Given the description of an element on the screen output the (x, y) to click on. 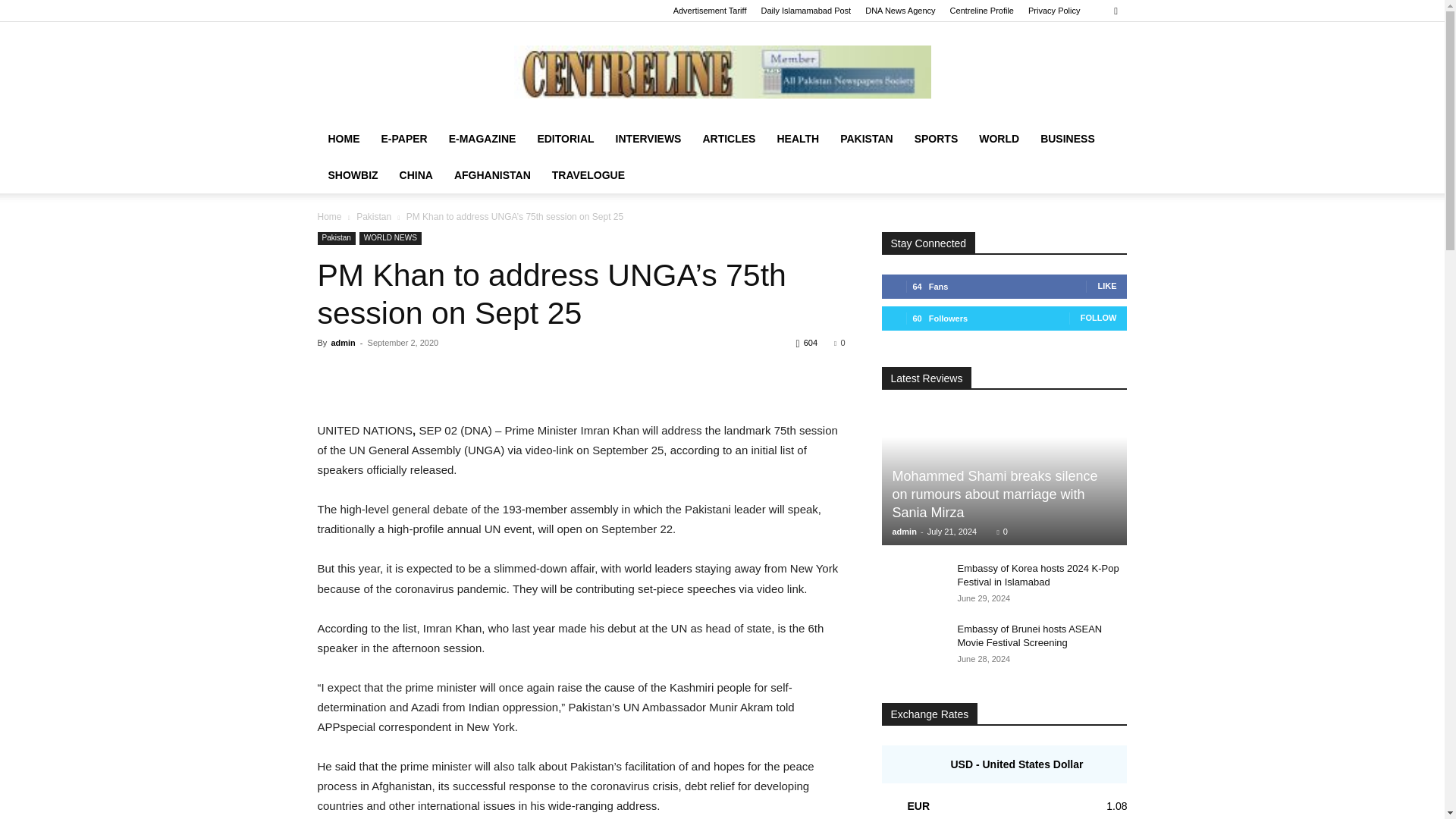
CENTRELINE (722, 71)
Centreline (722, 71)
HOME (343, 138)
E-MAGAZINE (482, 138)
Centreline Profile (981, 10)
HEALTH (797, 138)
EDITORIAL (564, 138)
ARTICLES (728, 138)
PAKISTAN (865, 138)
DNA News Agency (899, 10)
Advertisement Tariff (709, 10)
Daily Islamamabad Post (806, 10)
View all posts in Pakistan (373, 216)
INTERVIEWS (649, 138)
Privacy Policy (1053, 10)
